Given the description of an element on the screen output the (x, y) to click on. 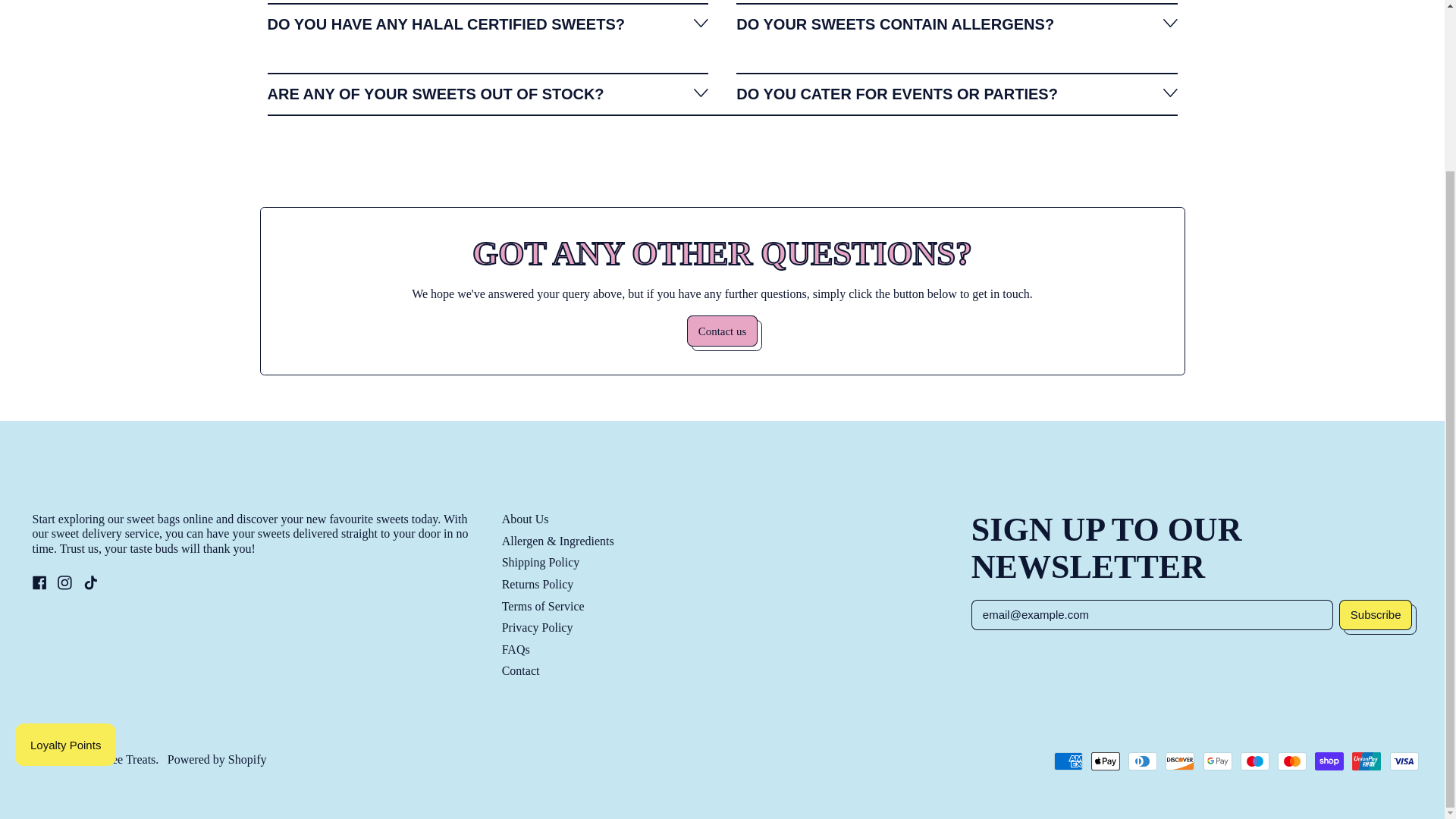
DO YOU CATER FOR EVENTS OR PARTIES? (956, 94)
TikTok (89, 585)
About Us (525, 518)
ARE ANY OF YOUR SWEETS OUT OF STOCK? (486, 94)
Instagram (64, 585)
Facebook (39, 585)
DO YOU HAVE ANY HALAL CERTIFIED SWEETS? (486, 24)
Contact us (722, 330)
DO YOUR SWEETS CONTAIN ALLERGENS? (956, 24)
